Given the description of an element on the screen output the (x, y) to click on. 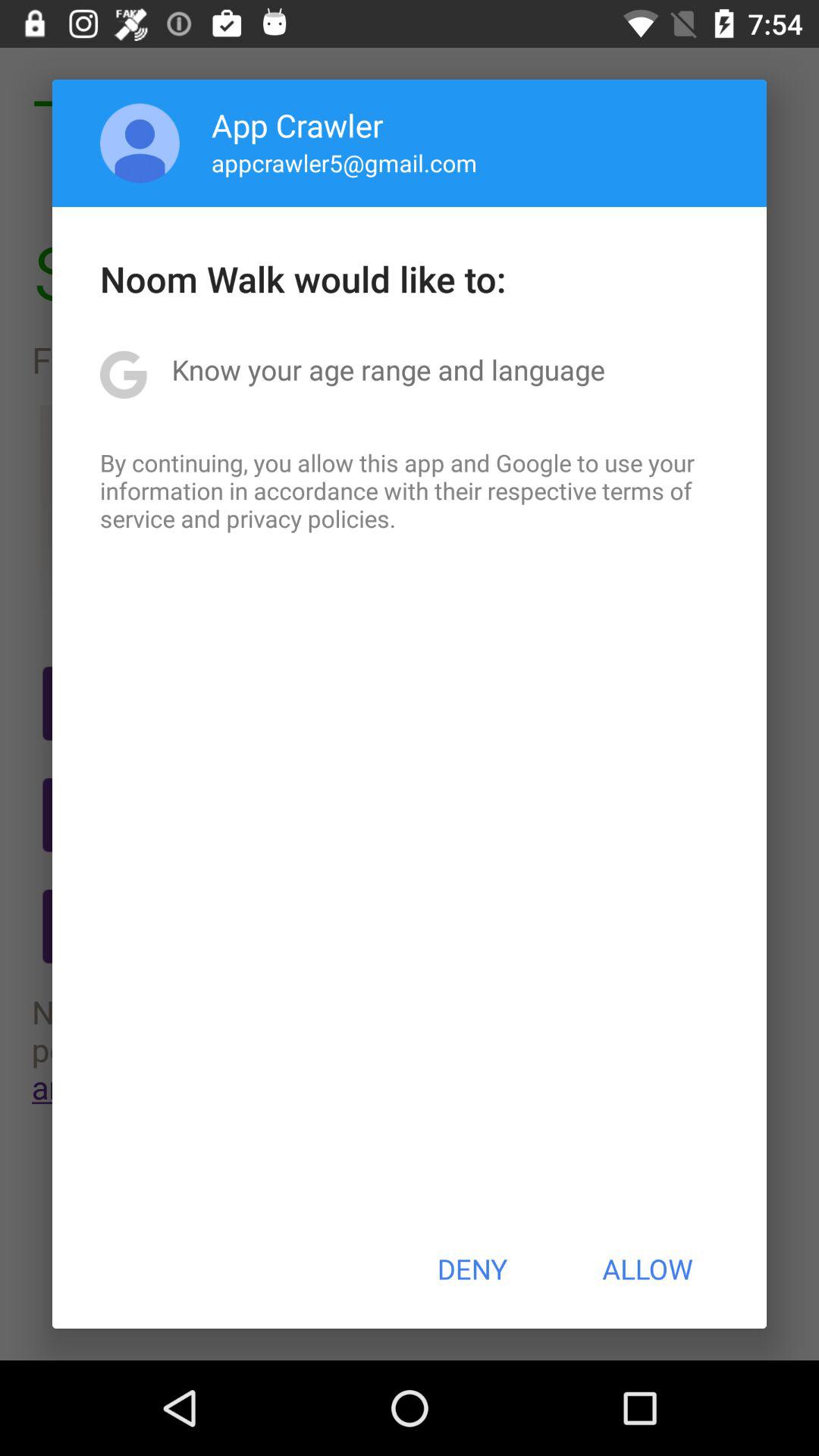
turn on icon below by continuing you icon (471, 1268)
